Given the description of an element on the screen output the (x, y) to click on. 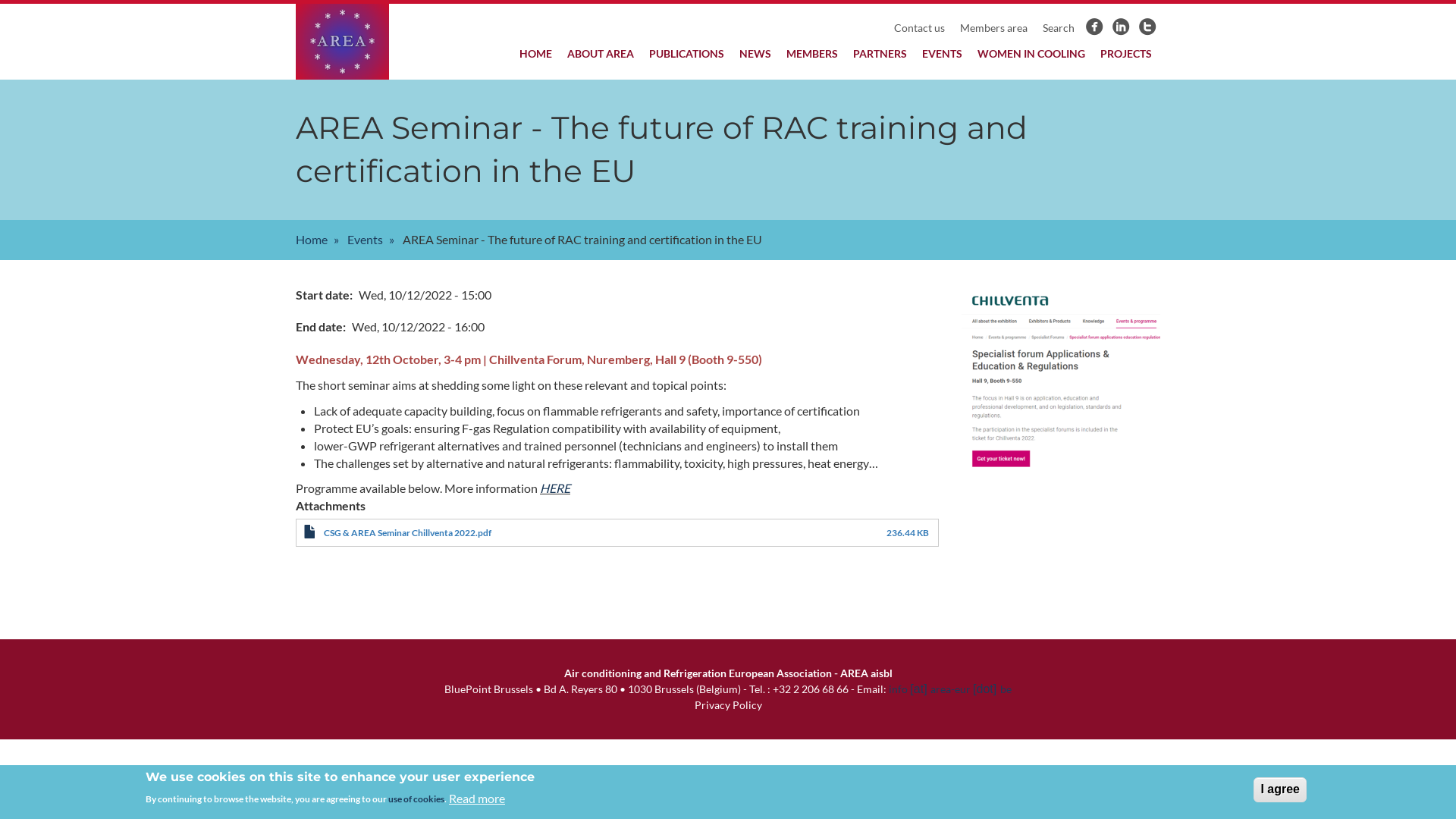
Search Element type: text (1058, 27)
Read more Element type: text (476, 798)
circletwitter Element type: text (1147, 28)
MEMBERS Element type: text (811, 53)
HERE Element type: text (554, 487)
ABOUT AREA Element type: text (600, 53)
circlelinkedin Element type: text (1121, 28)
I agree Element type: text (1279, 789)
WOMEN IN COOLING Element type: text (1030, 53)
Contact us Element type: text (919, 27)
EVENTS Element type: text (941, 53)
info [at] area-eur [dot] be Element type: text (949, 688)
NEWS Element type: text (754, 53)
HOME Element type: text (535, 53)
PROJECTS Element type: text (1125, 53)
Members area Element type: text (993, 27)
circlefacebook Element type: text (1095, 28)
PUBLICATIONS Element type: text (686, 53)
CSG & AREA Seminar Chillventa 2022.pdf Element type: text (407, 532)
Home Element type: hover (357, 41)
PARTNERS Element type: text (879, 53)
Privacy Policy Element type: text (728, 704)
use of cookies Element type: text (416, 799)
Skip to main content Element type: text (0, 0)
Events Element type: text (364, 239)
Home Element type: text (311, 239)
